Given the description of an element on the screen output the (x, y) to click on. 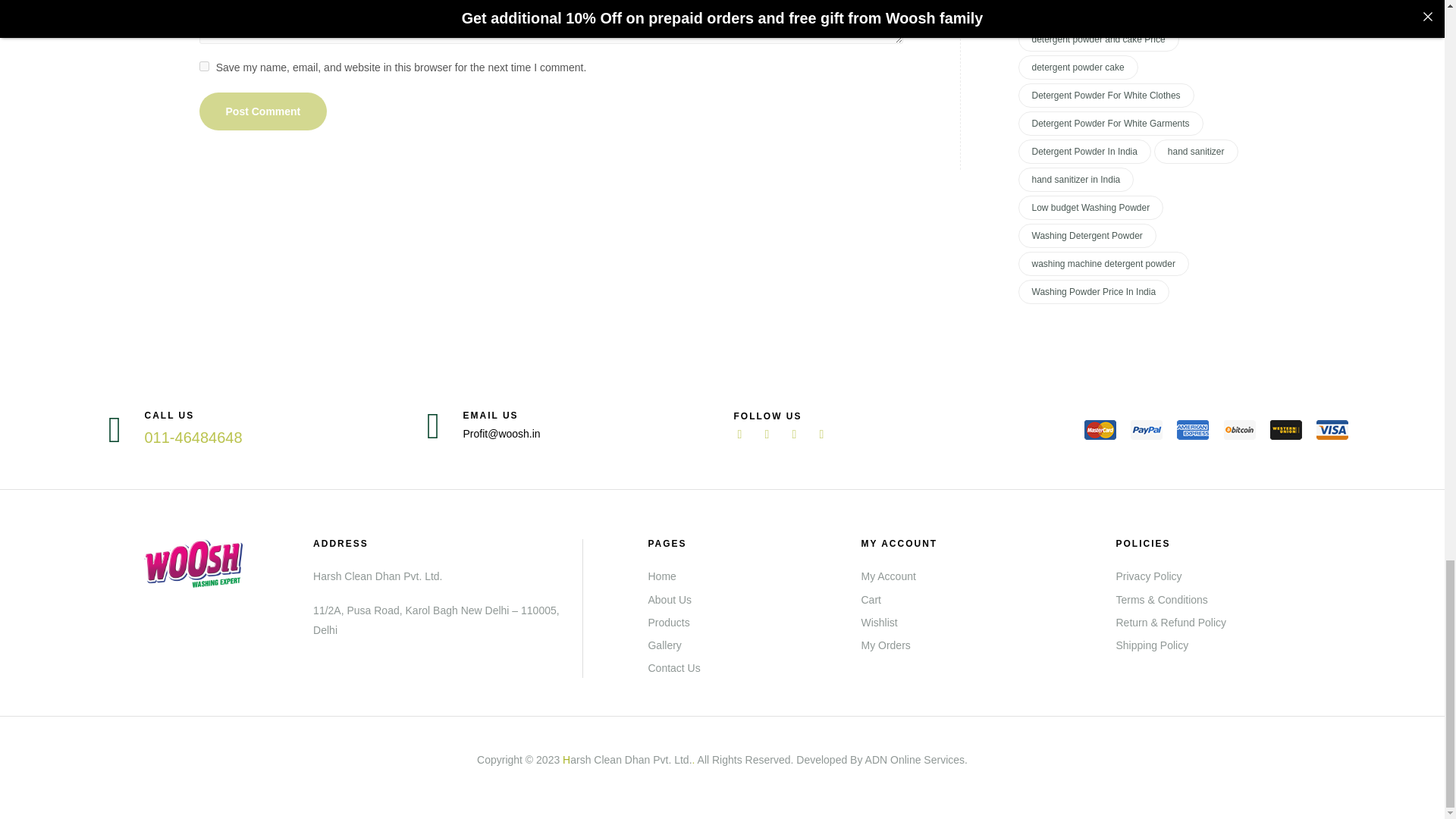
Post Comment (262, 111)
Post Comment (262, 111)
yes (203, 66)
